Given the description of an element on the screen output the (x, y) to click on. 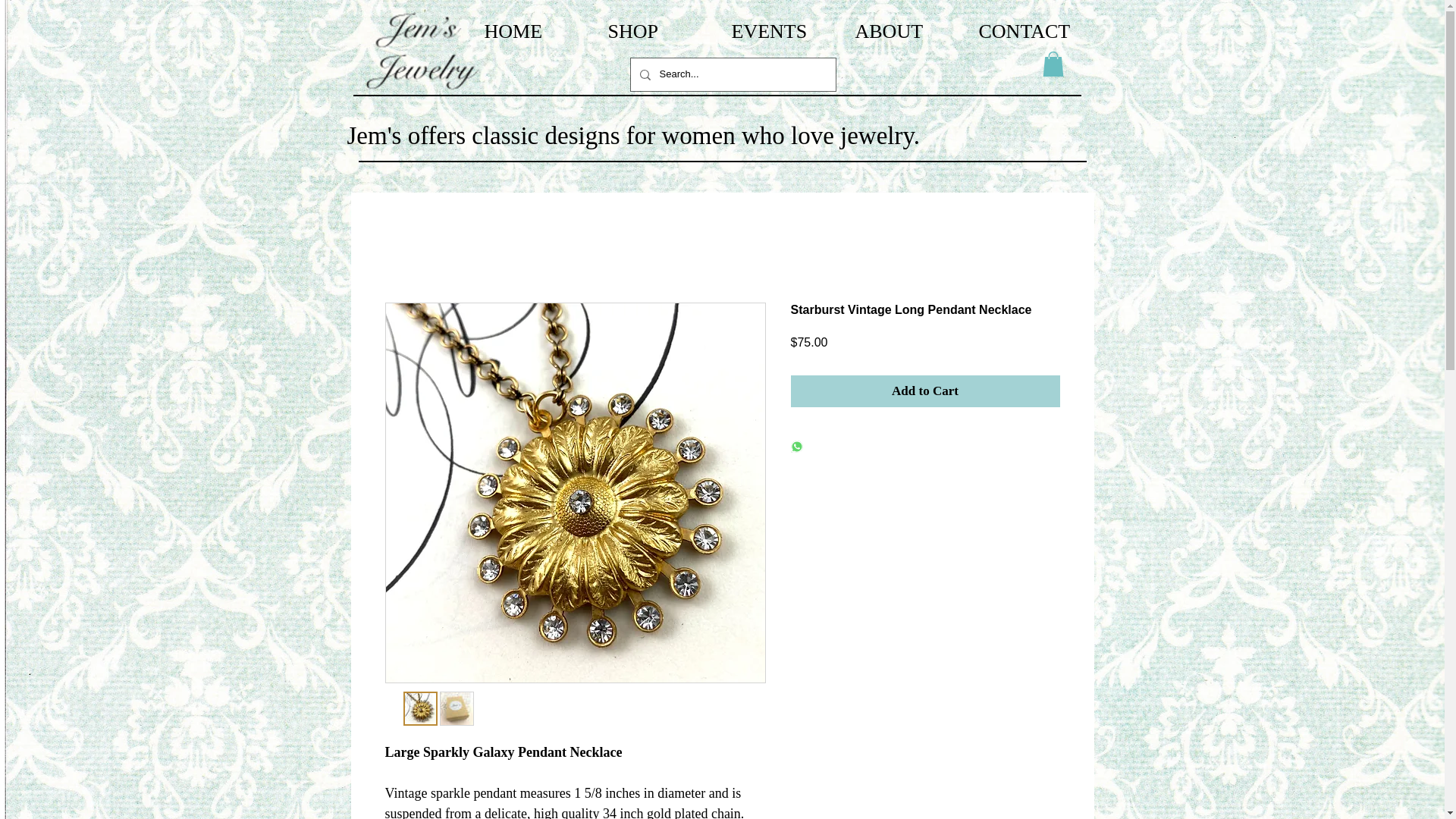
ABOUT (909, 31)
HOME (537, 31)
Add to Cart (924, 391)
EVENTS (785, 31)
SHOP (661, 31)
CONTACT (1032, 31)
